Given the description of an element on the screen output the (x, y) to click on. 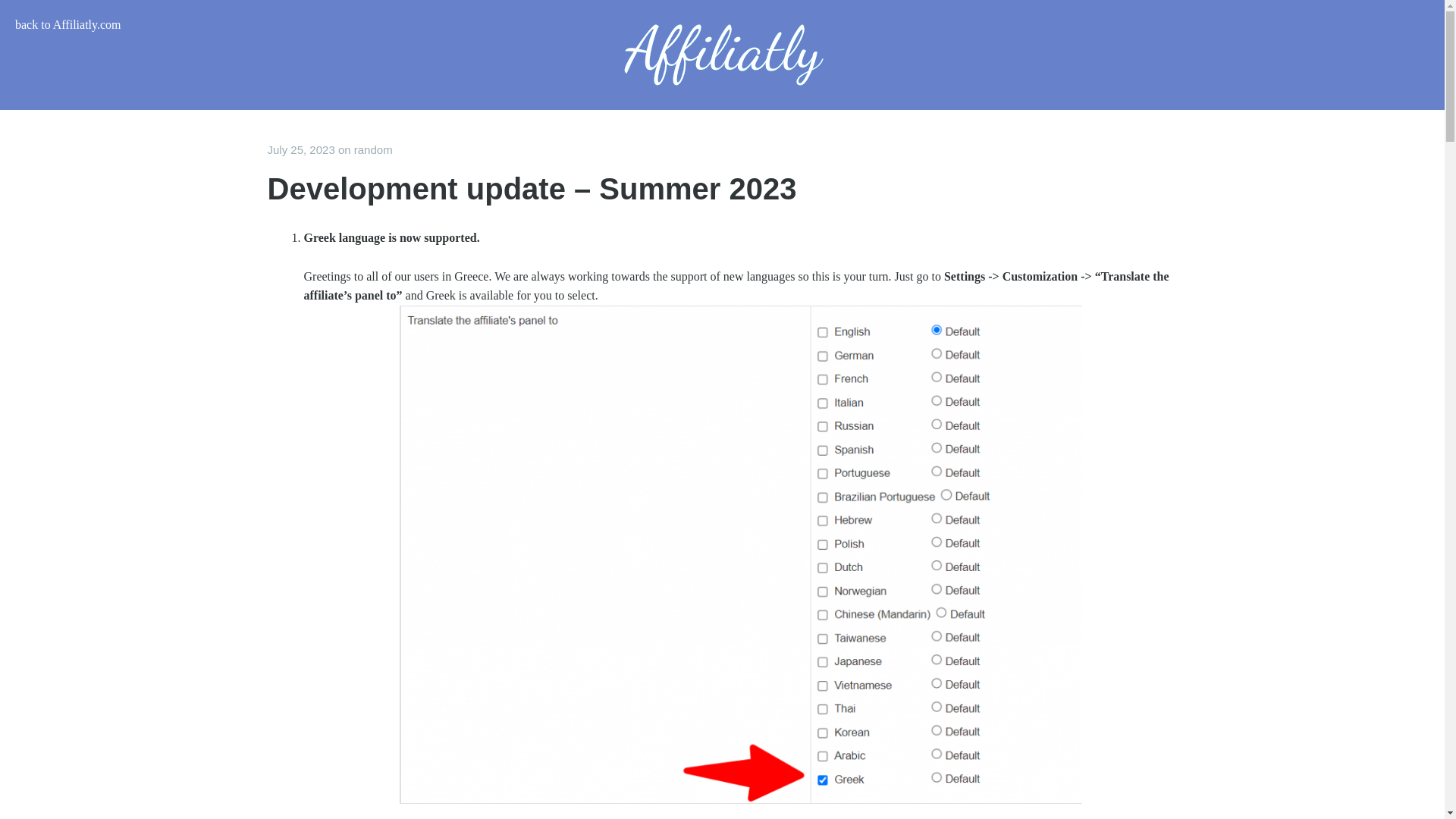
Affiliate tracking software (721, 55)
back to Affiliatly.com (67, 24)
random (373, 149)
Search (22, 9)
